Given the description of an element on the screen output the (x, y) to click on. 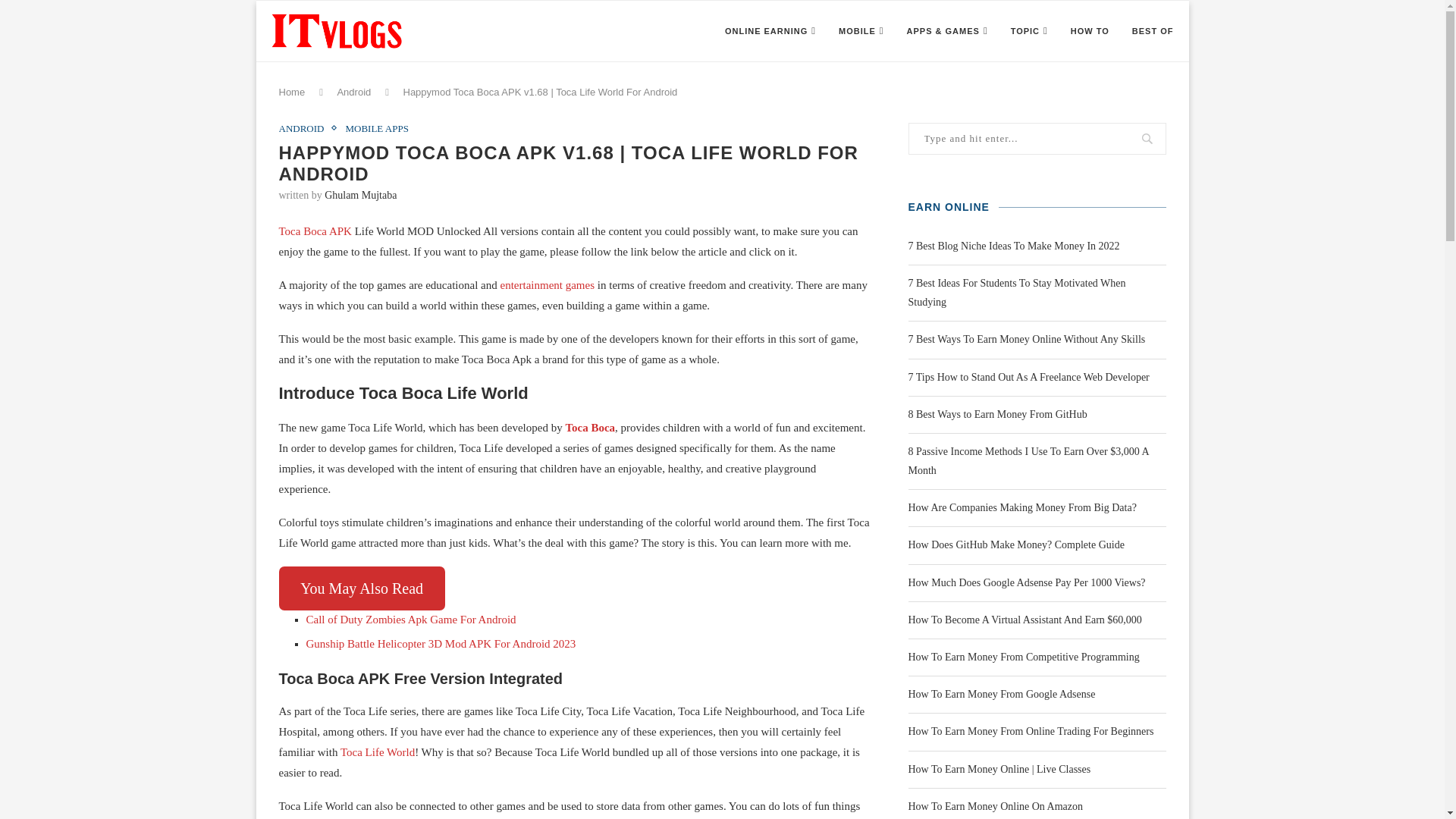
ONLINE EARNING (770, 30)
